Given the description of an element on the screen output the (x, y) to click on. 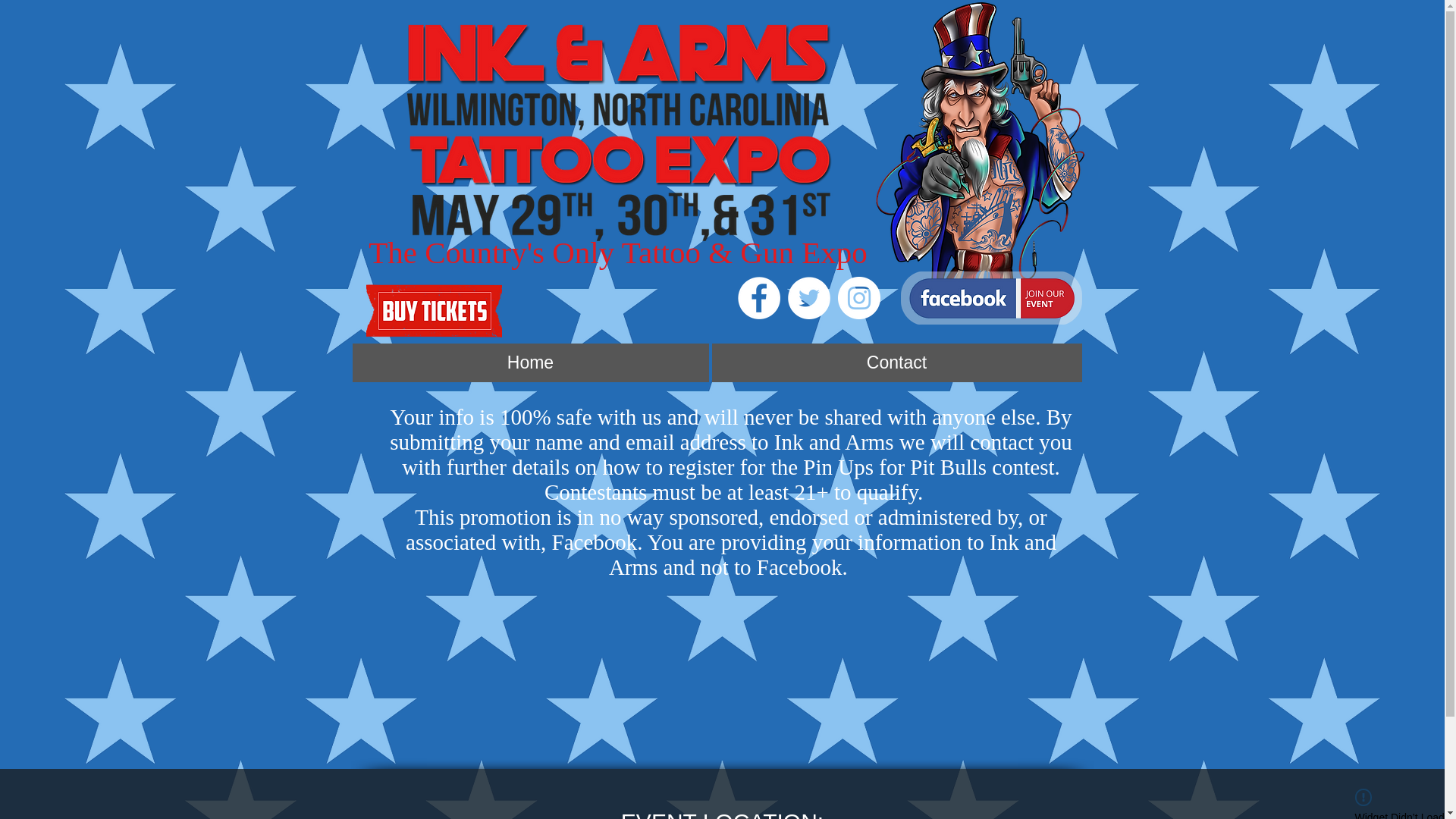
Home (529, 362)
Contact (896, 362)
